Given the description of an element on the screen output the (x, y) to click on. 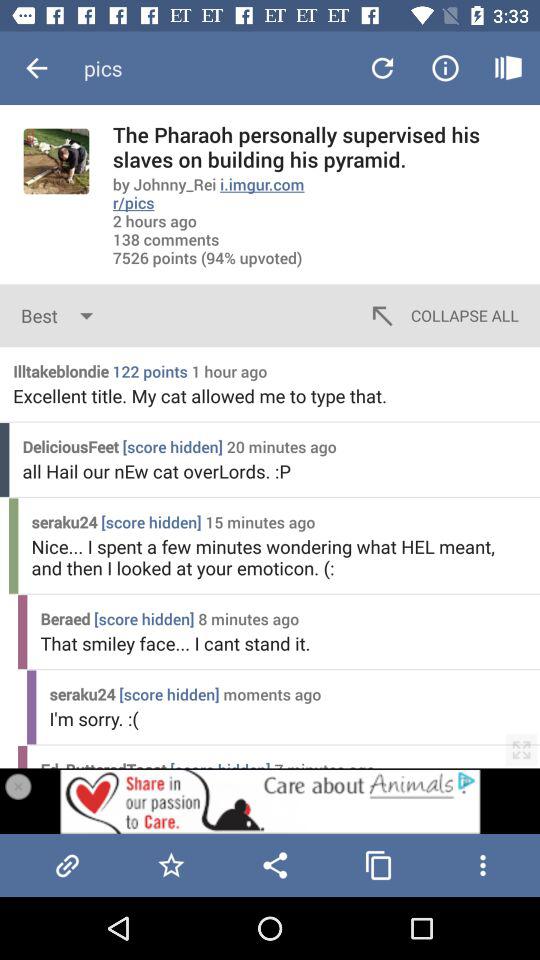
click the copy button on the web page (378, 865)
click the zoom button on the web page (520, 750)
click on refresh button (382, 68)
